Given the description of an element on the screen output the (x, y) to click on. 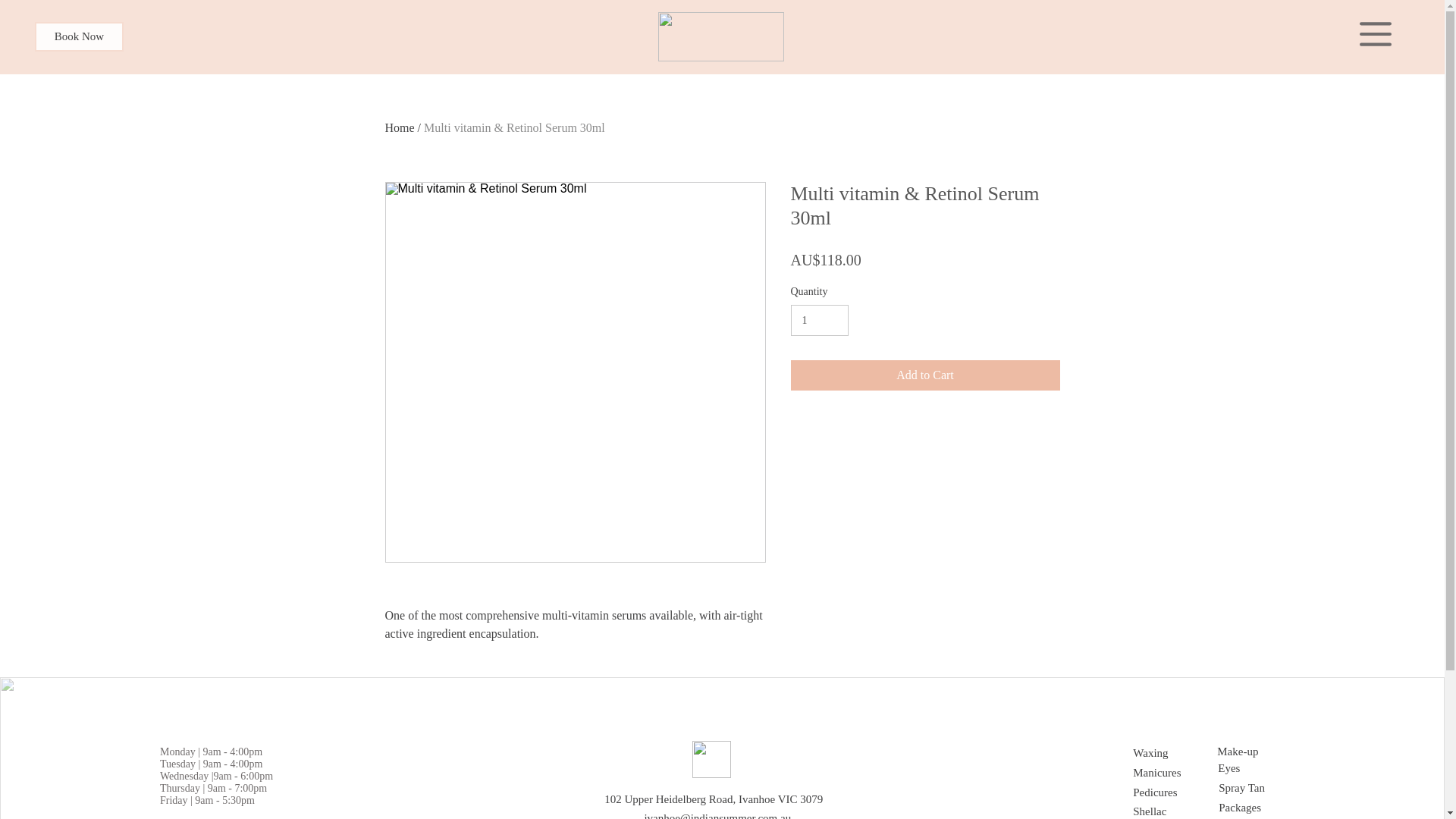
Manicures Element type: text (1174, 772)
Monday | Element type: text (181, 751)
Add to Cart Element type: text (924, 375)
Home Element type: text (399, 127)
Pedicures Element type: text (1174, 792)
Make-up Element type: text (1259, 751)
Book Now Element type: text (78, 36)
Multi vitamin & Retinol Serum 30ml Element type: text (514, 127)
9am - 4:00pm Element type: text (232, 751)
Eyes Element type: text (1253, 768)
Waxing Element type: text (1174, 753)
102 Upper Heidelberg Road, Ivanhoe VIC 3079 Element type: text (713, 799)
Packages Element type: text (1251, 807)
Spray Tan Element type: text (1253, 787)
